Given the description of an element on the screen output the (x, y) to click on. 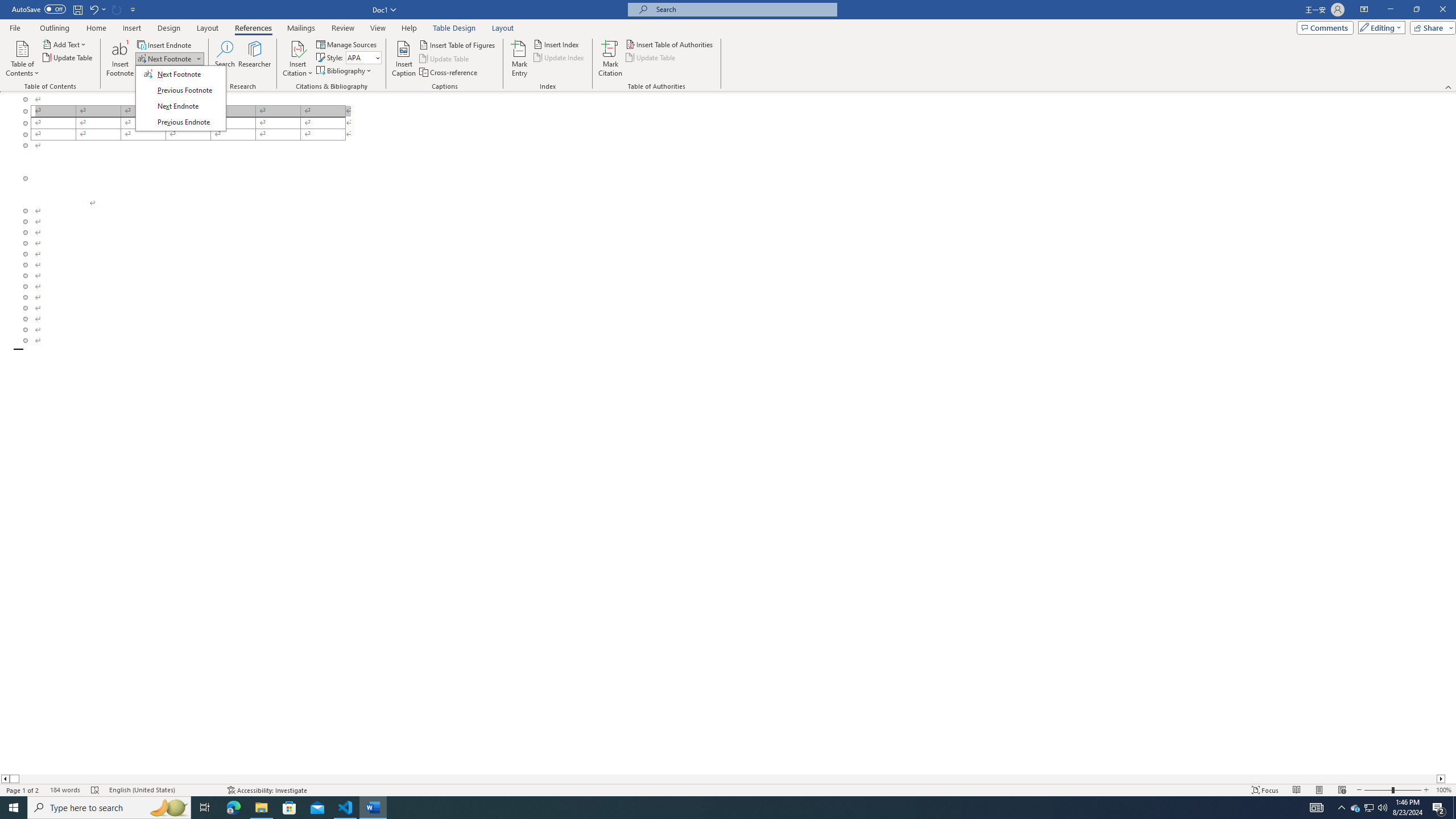
Q2790: 100% (1382, 807)
Can't Repeat (117, 9)
Task View (204, 807)
Next Footnote (1368, 807)
Microsoft Edge (165, 58)
Insert Index... (233, 807)
Show desktop (556, 44)
Page right (1454, 807)
